Given the description of an element on the screen output the (x, y) to click on. 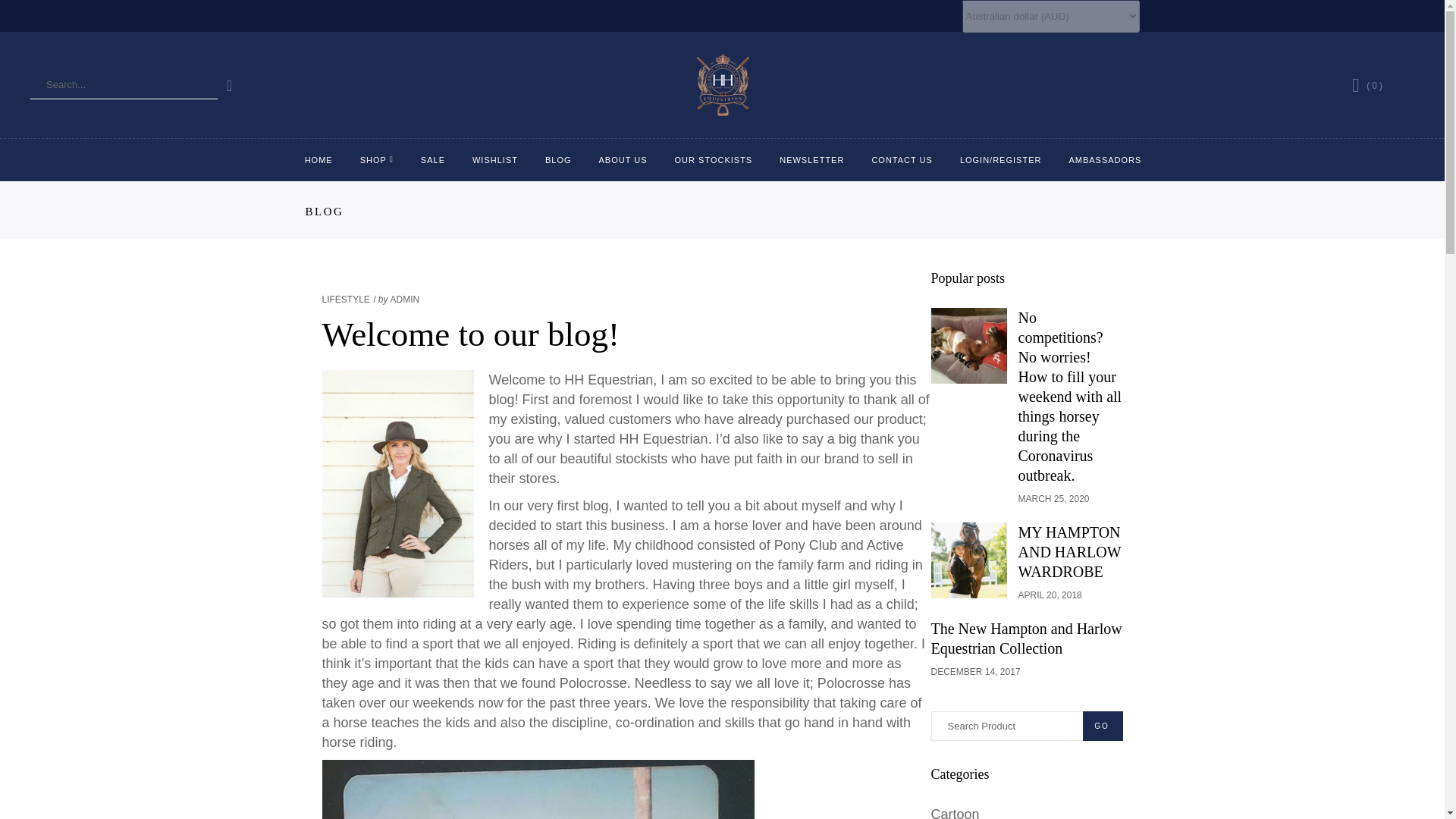
MY HAMPTON AND HARLOW WARDROBE (969, 560)
The New Hampton and Harlow Equestrian Collection (1026, 637)
Currency (1049, 16)
MY HAMPTON AND HARLOW WARDROBE (1069, 551)
HOME (318, 159)
SHOP (376, 159)
0 (1366, 85)
Our 2020 HH Equestrian team! (1104, 159)
